Given the description of an element on the screen output the (x, y) to click on. 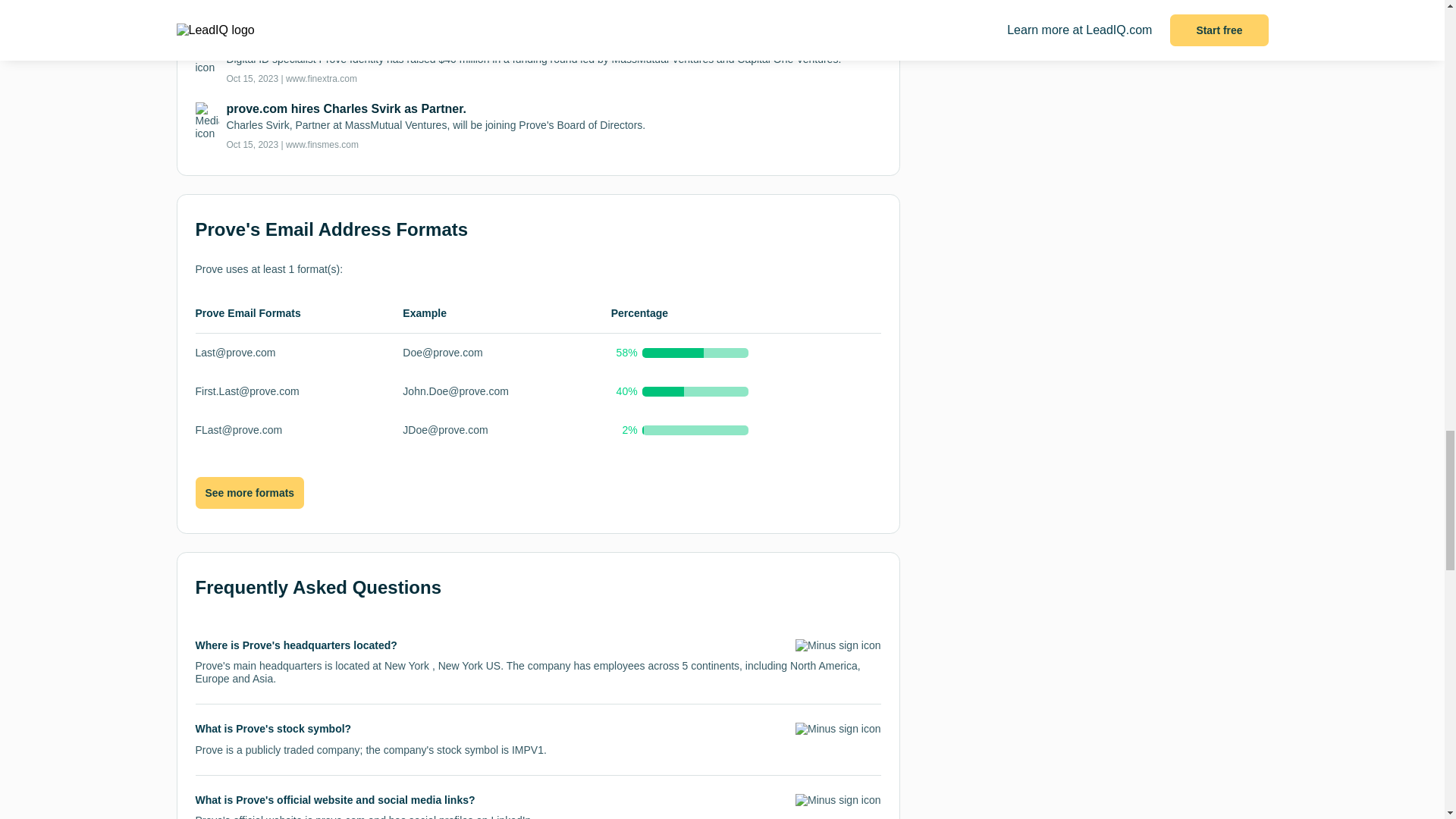
prove.com (340, 816)
LinkedIn (510, 816)
See more formats (249, 493)
See more formats (249, 491)
